Given the description of an element on the screen output the (x, y) to click on. 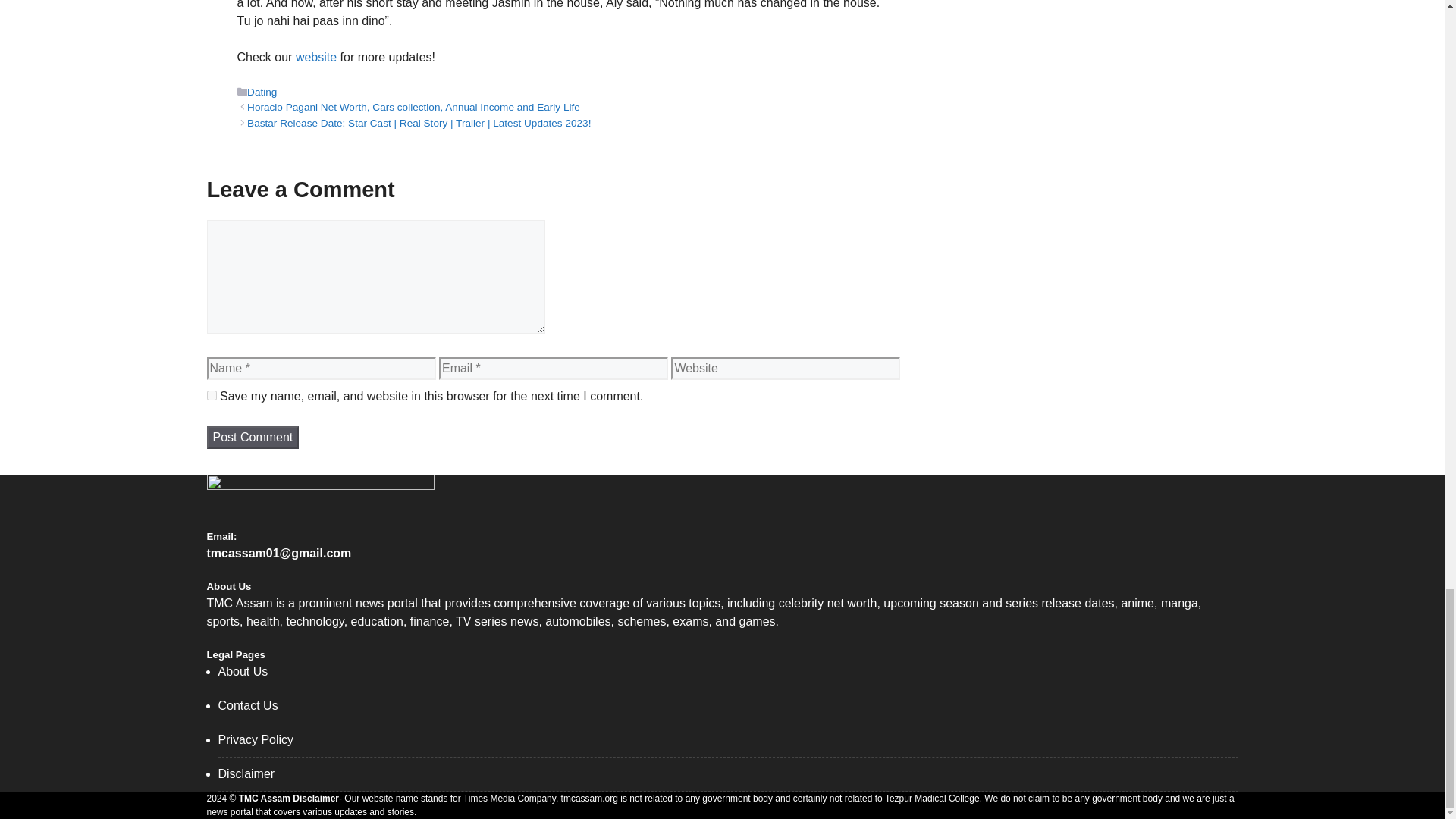
Post Comment (252, 436)
website (315, 56)
Dating (261, 91)
yes (210, 395)
Post Comment (252, 436)
